Given the description of an element on the screen output the (x, y) to click on. 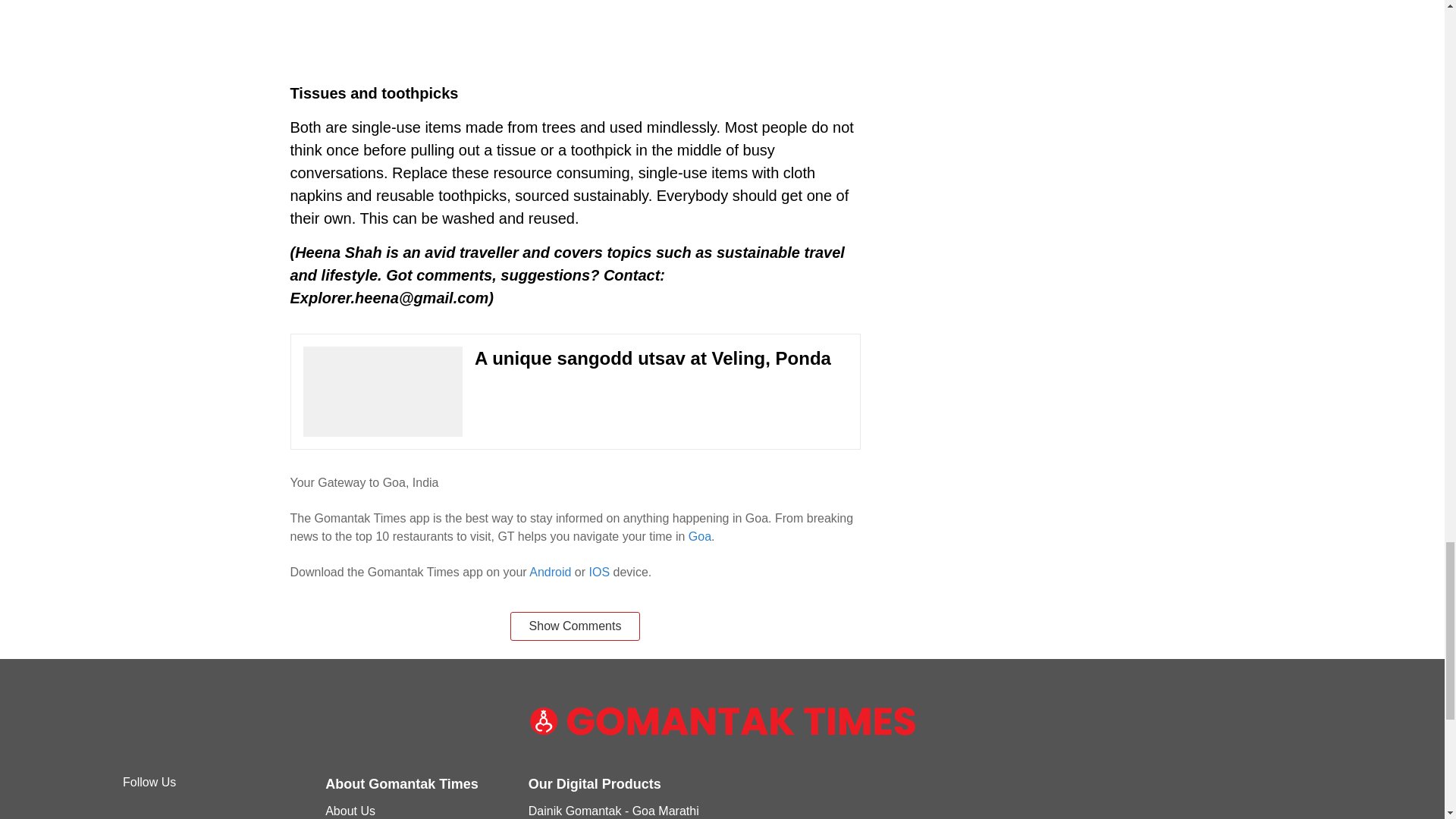
A unique sangodd utsav at Veling, Ponda (574, 390)
